Given the description of an element on the screen output the (x, y) to click on. 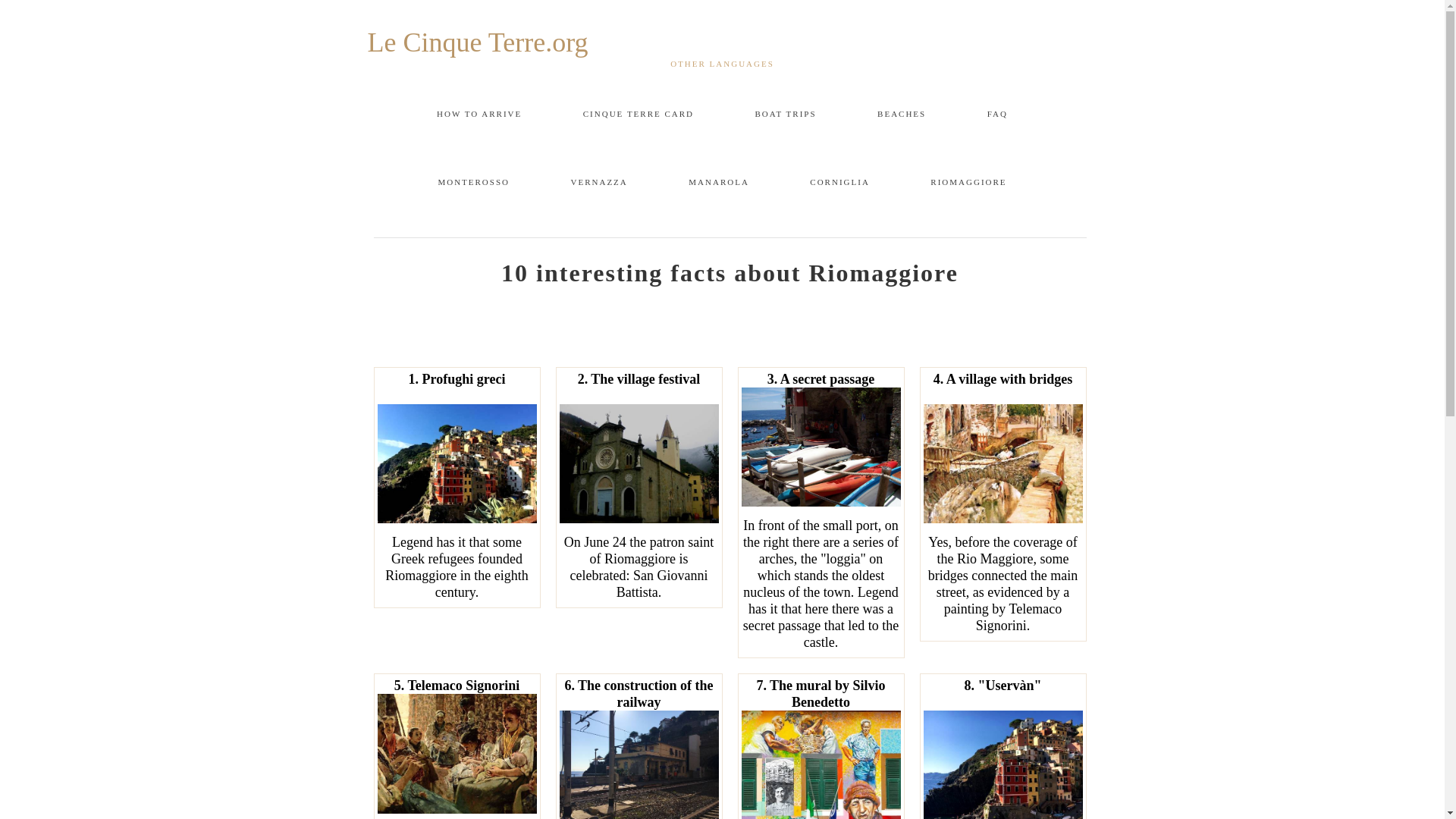
BEACHES (901, 113)
VERNAZZA (598, 182)
OTHER LANGUAGES (721, 63)
How to arrive to Cinque Terre (478, 113)
HOW TO ARRIVE (478, 113)
Beaches in the Cinque Terre (901, 113)
MONTEROSSO (473, 182)
Vernazza (598, 182)
Manarola (718, 182)
Frequently asked questions about Cinque Terre (997, 113)
CINQUE TERRE CARD (638, 113)
FAQ (997, 113)
Boat trips Cinque Terre (785, 113)
Monterosso al Mare (473, 182)
Cinque Terre Card (638, 113)
